Given the description of an element on the screen output the (x, y) to click on. 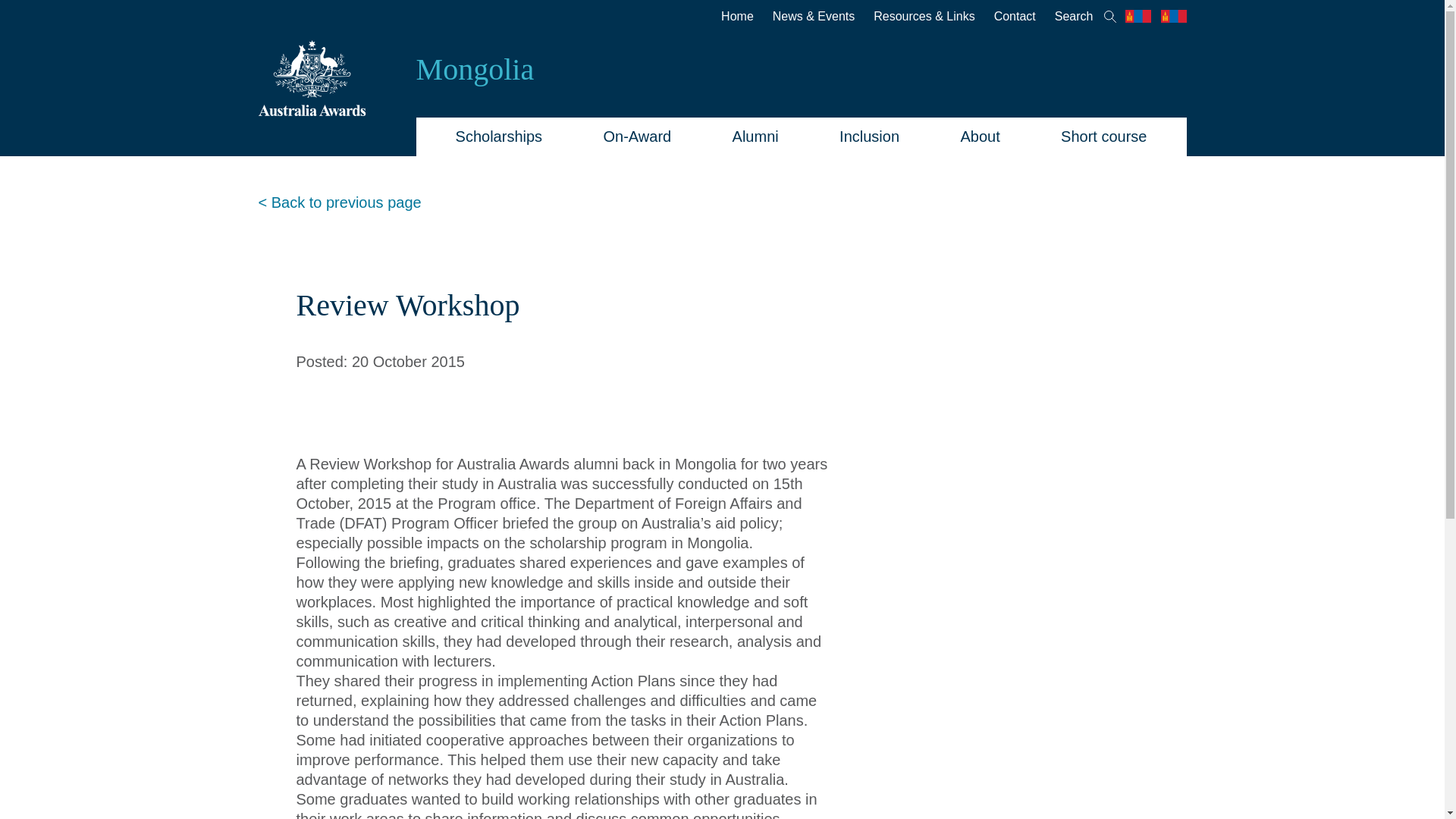
Home (727, 16)
Contact (1005, 16)
Mongolian (1173, 15)
Inclusion (869, 136)
On-Award (637, 136)
Alumni (755, 136)
About (979, 136)
Search (1075, 16)
English (1138, 15)
Scholarships (499, 136)
